Given the description of an element on the screen output the (x, y) to click on. 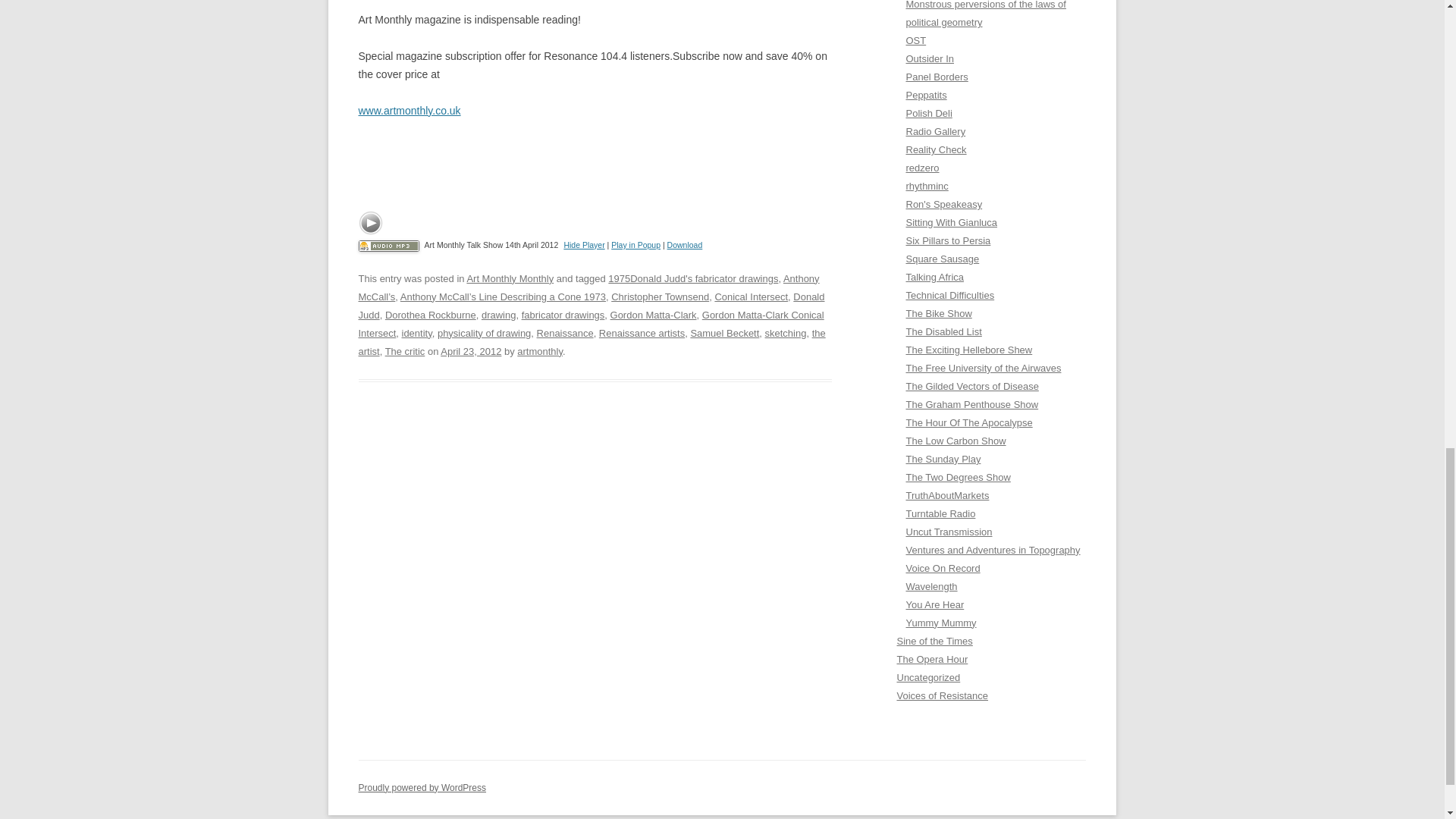
www.artmonthly.co.uk (409, 110)
1975Donald Judd's fabricator drawings (692, 278)
artmonthly (539, 351)
Gordon Matta-Clark (653, 315)
Play in Popup (636, 244)
Conical Intersect (750, 296)
The critic (405, 351)
Christopher Townsend (660, 296)
sketching (785, 333)
April 23, 2012 (470, 351)
Download (684, 244)
Renaissance (565, 333)
Donald Judd (591, 306)
View all posts by artmonthly (539, 351)
Samuel Beckett (724, 333)
